Given the description of an element on the screen output the (x, y) to click on. 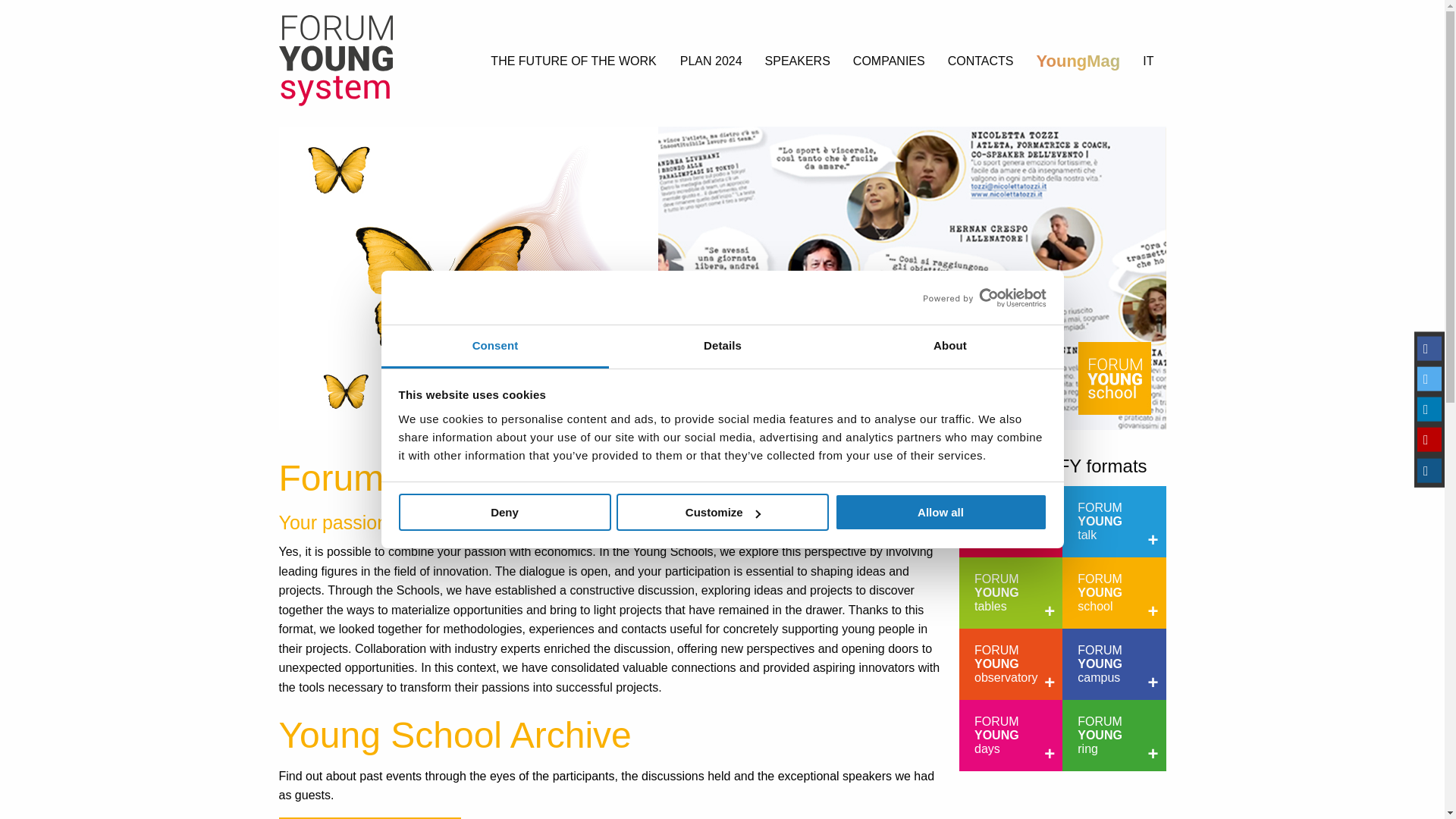
Consent (494, 346)
Deny (503, 511)
About (948, 346)
Forum Young Tables (1010, 592)
Allow all (940, 511)
Forum Young Ring (1114, 735)
Forum Young Observatory (1010, 664)
Customize (721, 511)
Forum Young School (1114, 592)
Forum Young Campus (1114, 664)
Forum Young Days (1010, 735)
Details (721, 346)
Forum Young Talk (1114, 521)
Forum Young System (1010, 521)
THE FUTURE OF THE WORK (573, 62)
